Given the description of an element on the screen output the (x, y) to click on. 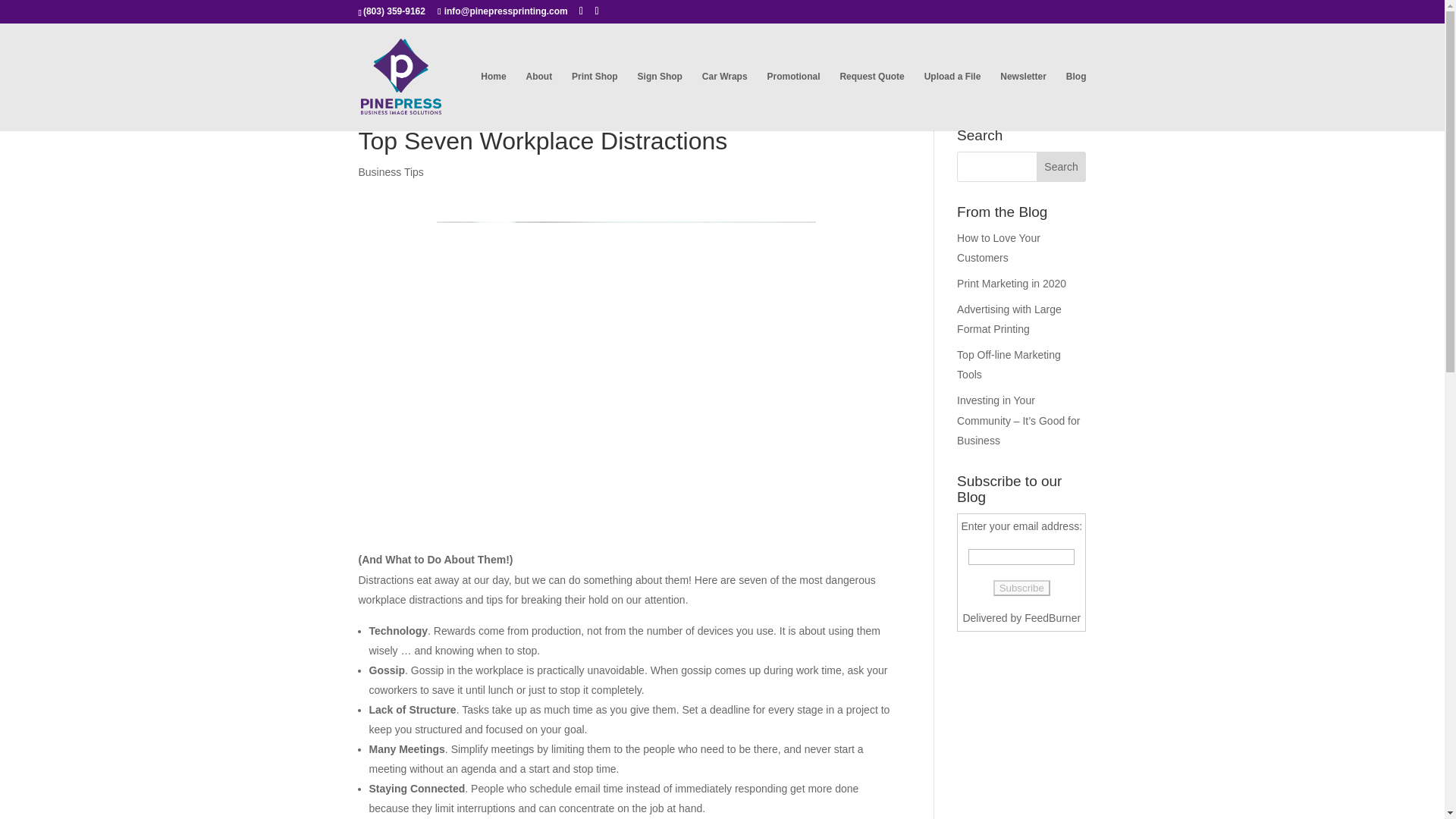
Subscribe (1020, 587)
Subscribe (1020, 587)
Business Tips (390, 172)
FeedBurner (1052, 617)
Top Off-line Marketing Tools (1008, 364)
How to Love Your Customers (998, 247)
Promotional (794, 100)
Print Marketing in 2020 (1010, 283)
Search (1061, 166)
Upload a File (952, 100)
